Given the description of an element on the screen output the (x, y) to click on. 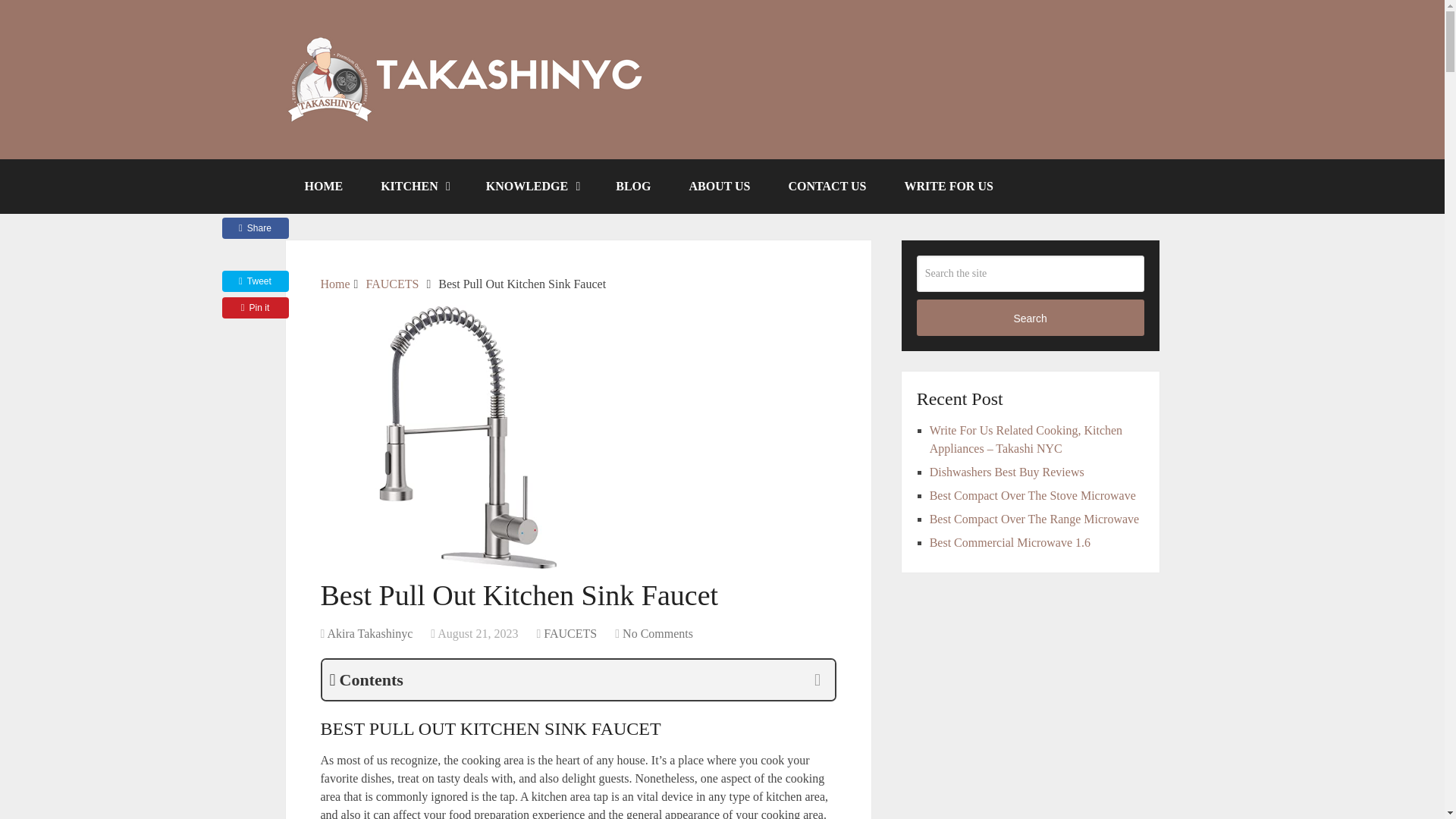
WRITE FOR US (948, 185)
FAUCETS (392, 283)
No Comments (658, 633)
HOME (323, 185)
CONTACT US (827, 185)
View all posts in FAUCETS (569, 633)
ABOUT US (718, 185)
FAUCETS (569, 633)
Posts by Akira Takashinyc (369, 633)
KITCHEN (414, 185)
